Given the description of an element on the screen output the (x, y) to click on. 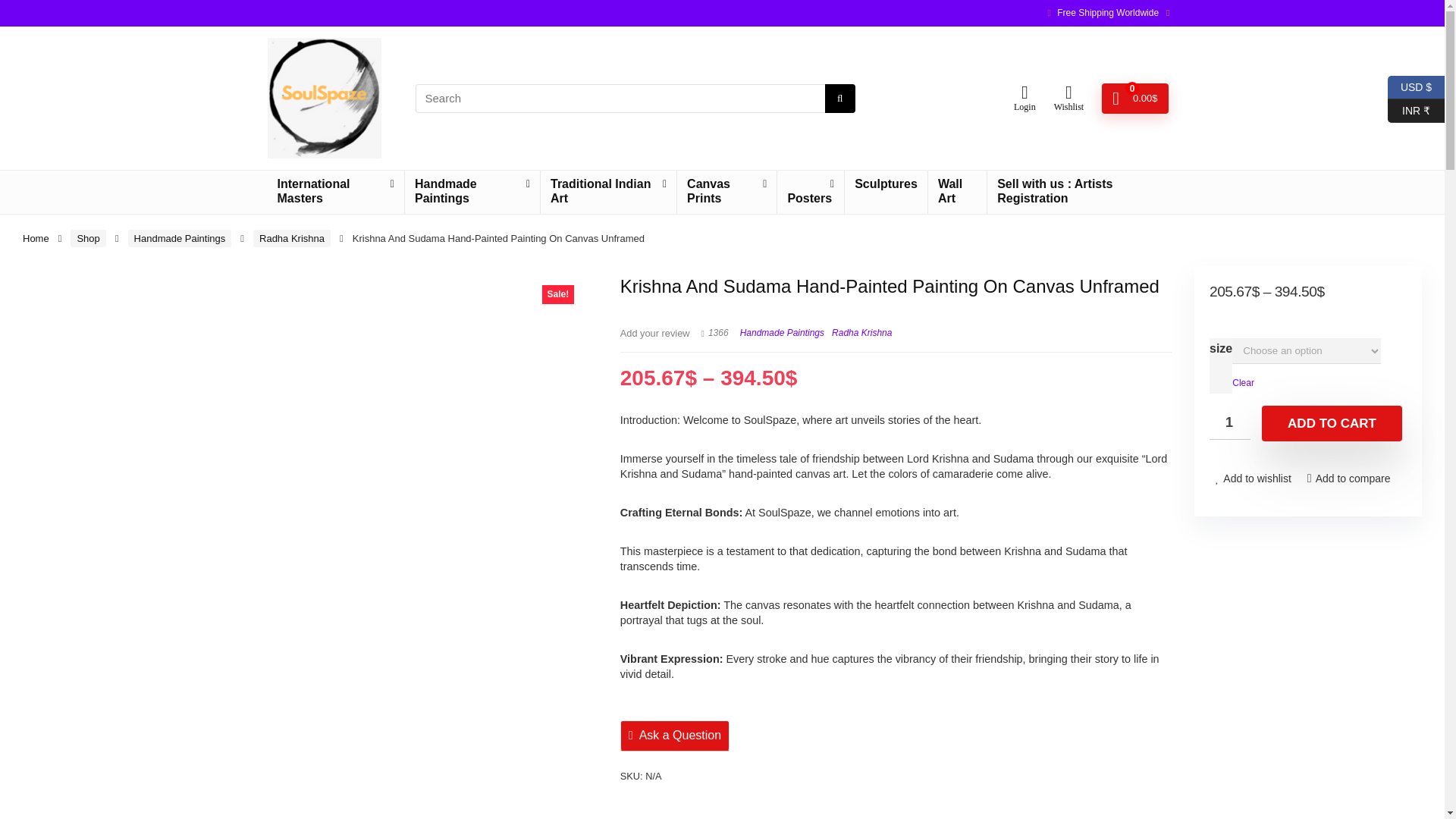
View all posts in Handmade Paintings (781, 332)
Sculptures (885, 184)
Add your review (655, 333)
View all posts in Radha Krishna (861, 332)
Handmade Paintings (179, 238)
Posters (810, 191)
Traditional Indian Art (608, 191)
1 (1229, 422)
Canvas Prints (726, 191)
Sell with us : Artists Registration (1081, 191)
Radha Krishna (291, 238)
Handmade Paintings (472, 191)
Wall Art (957, 191)
International Masters (334, 191)
Home (36, 238)
